Given the description of an element on the screen output the (x, y) to click on. 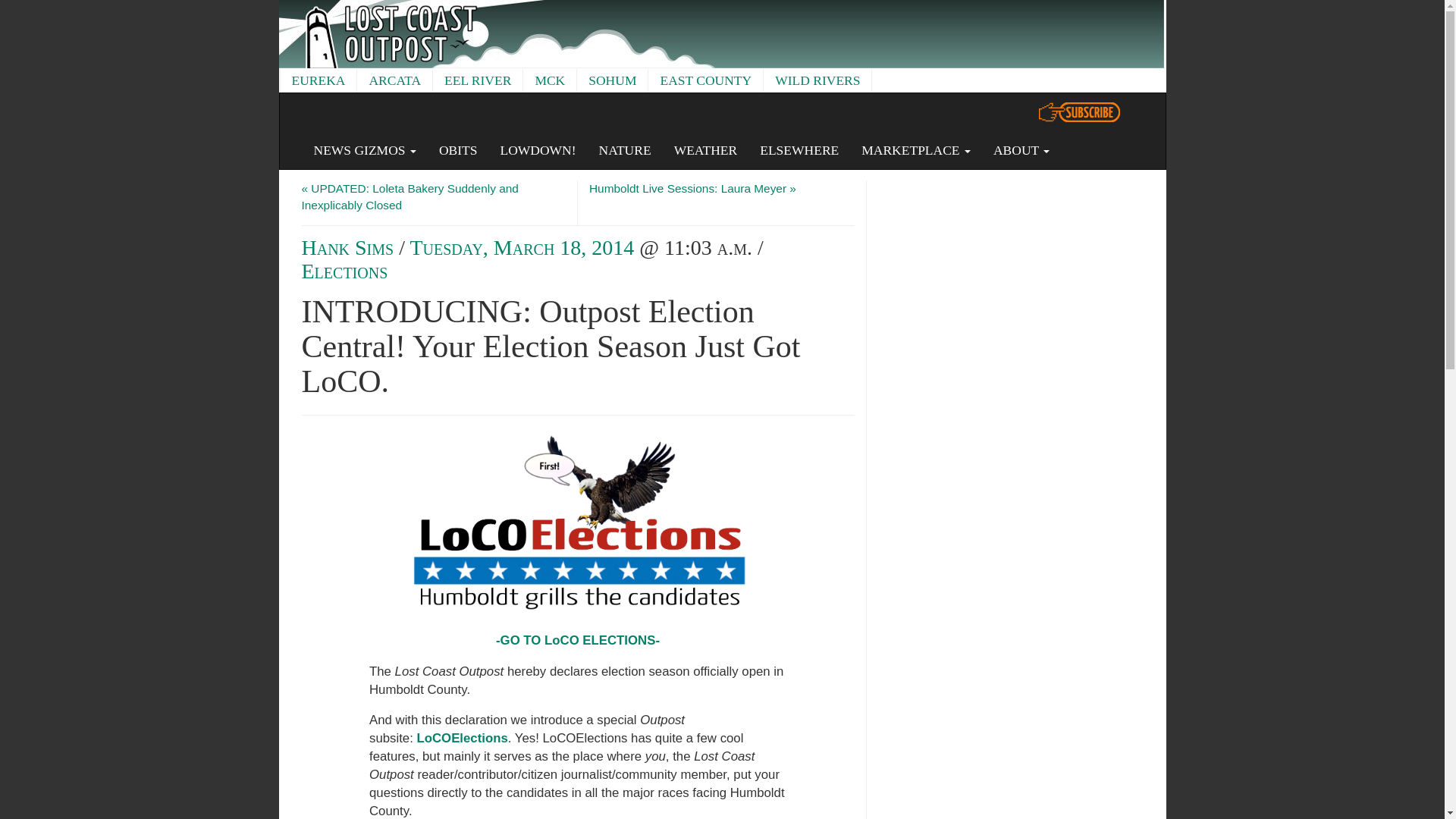
EAST COUNTY (704, 79)
WEATHER (705, 149)
NEWS GIZMOS (363, 149)
EUREKA (318, 79)
SOHUM (611, 79)
ELSEWHERE (799, 149)
ABOUT (1021, 149)
MARKETPLACE (915, 149)
MCK (549, 79)
LOWDOWN! (536, 149)
